Given the description of an element on the screen output the (x, y) to click on. 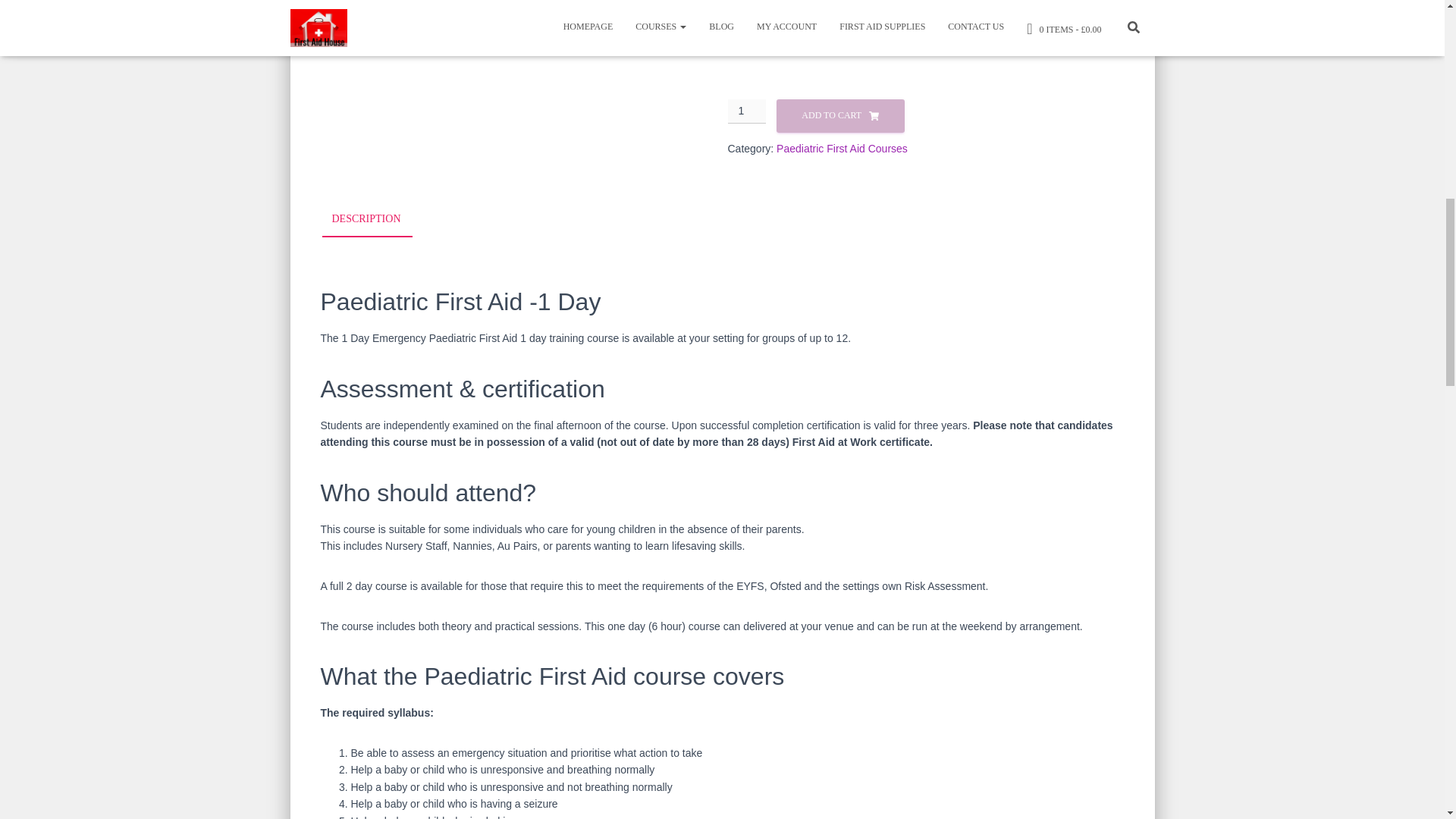
DESCRIPTION (366, 219)
1 (747, 111)
ADD TO CART (840, 115)
Paediatric First Aid Courses (841, 148)
